Given the description of an element on the screen output the (x, y) to click on. 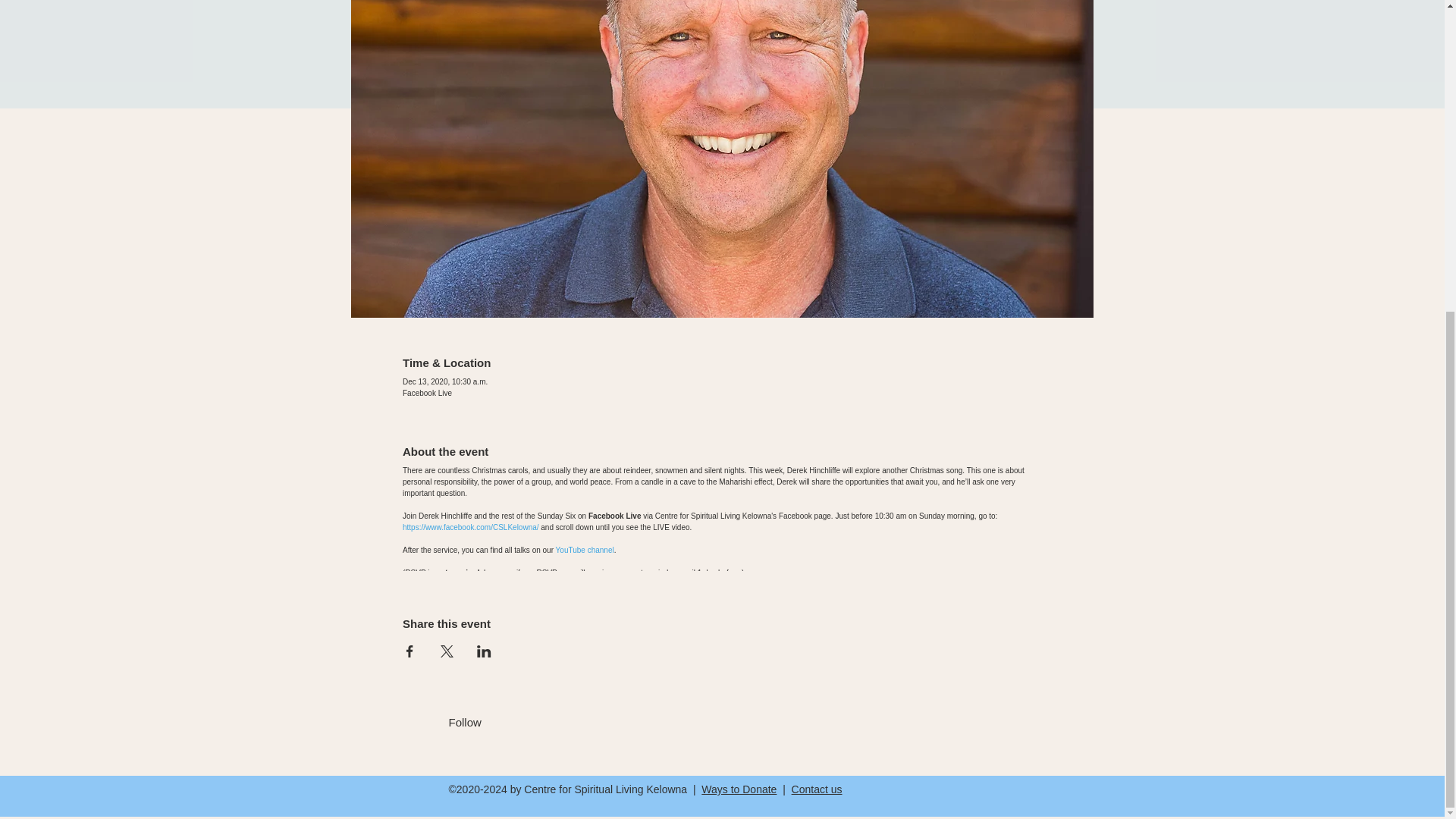
YouTube channel (585, 550)
Ways to Donate (738, 788)
Contact us (817, 788)
